Given the description of an element on the screen output the (x, y) to click on. 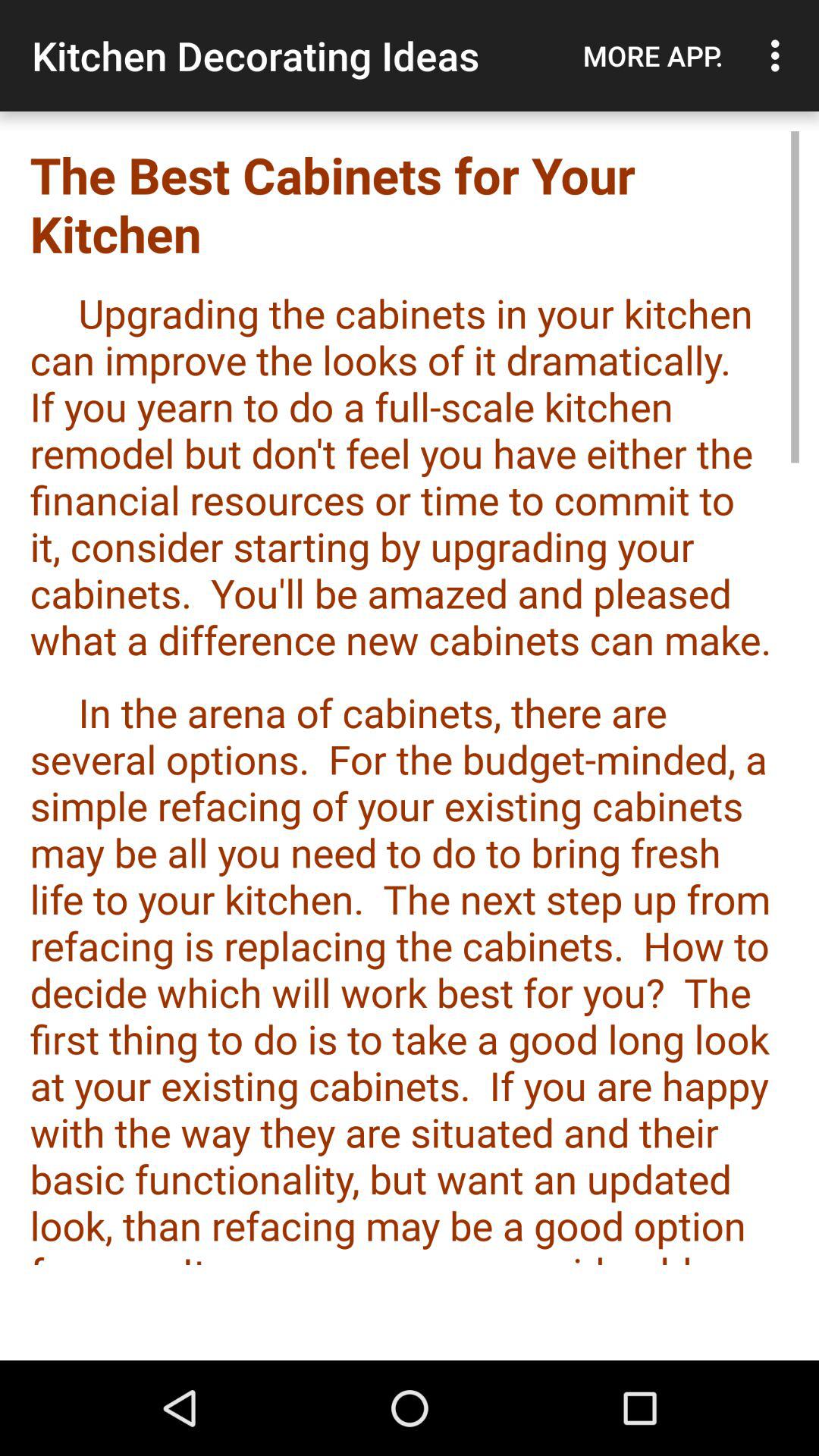
tap the icon above the the best cabinets (653, 55)
